Given the description of an element on the screen output the (x, y) to click on. 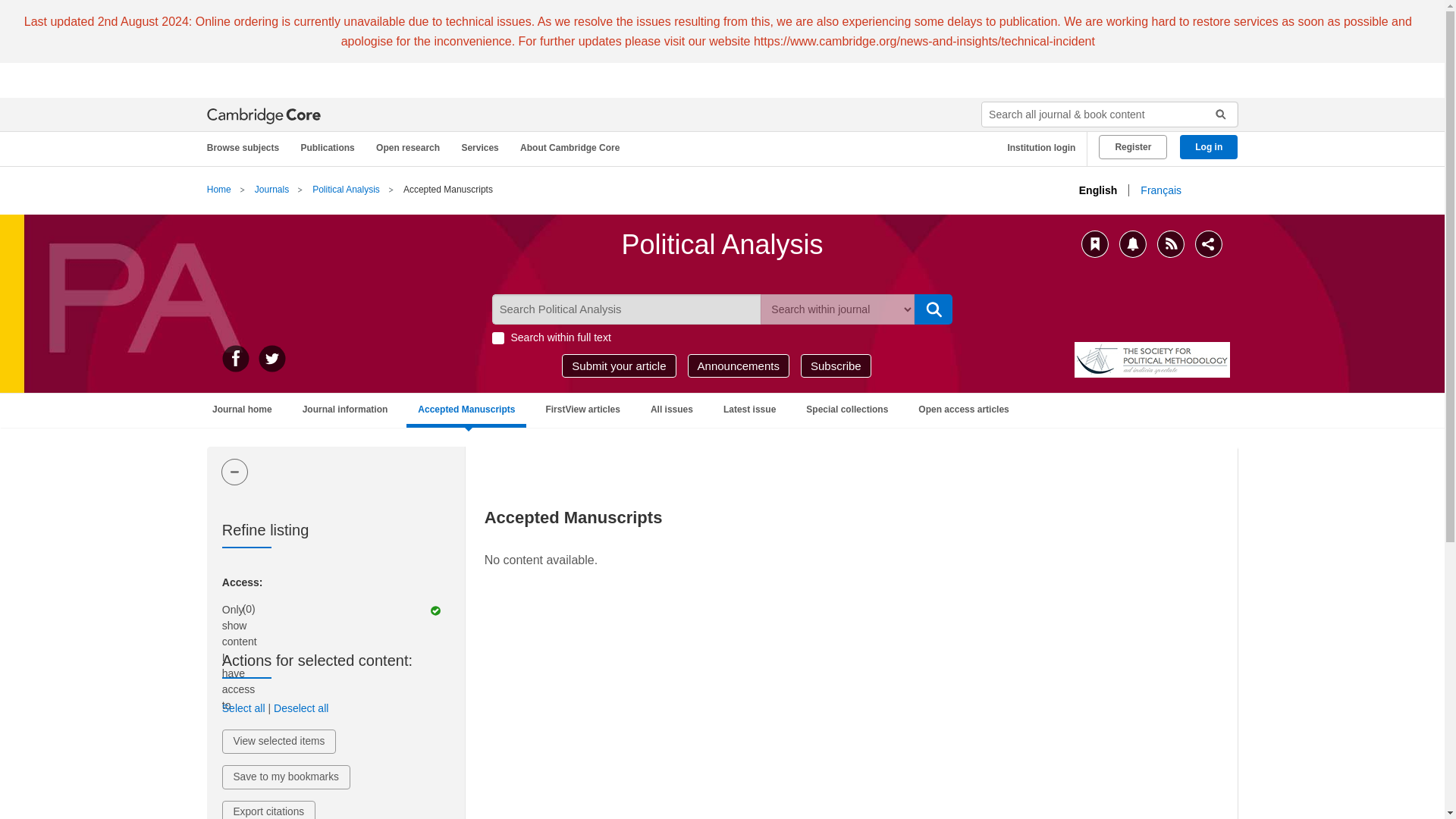
Log in (1208, 146)
About Cambridge Core (572, 147)
Register (1133, 146)
Open research (410, 147)
Journals (271, 189)
Services (482, 147)
Home (218, 189)
Submit search (1214, 114)
Political Analysis (346, 189)
Submit search (1214, 114)
Submit search (933, 309)
Institution login (1035, 147)
Publications (330, 147)
Browse subjects (250, 147)
